Given the description of an element on the screen output the (x, y) to click on. 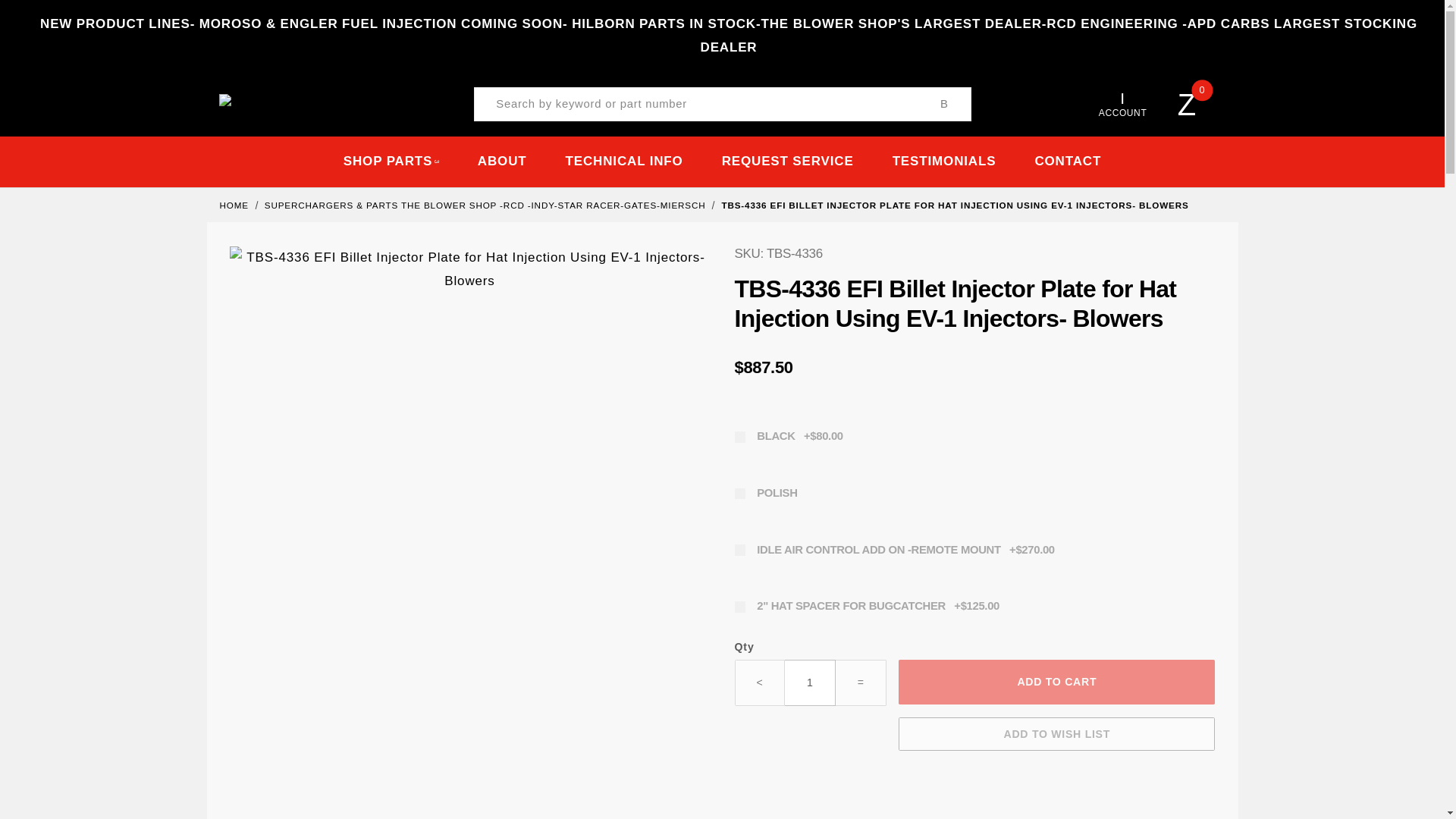
Home (235, 204)
Add To Cart (1056, 681)
TECHNICAL INFO (623, 162)
POLISH (973, 493)
Add to Wish List (1056, 734)
SHOP PARTS (390, 162)
IDLE AIR CONTROL ADD ON  -REMOTE MOUNT (973, 550)
ACCOUNT (1122, 104)
ABOUT (502, 162)
CONTACT (1067, 162)
Sign In (1092, 273)
1 (809, 682)
TESTIMONIALS (943, 162)
Alkydigger Fuel Injection-Superchargers-Ignitions (288, 103)
